Given the description of an element on the screen output the (x, y) to click on. 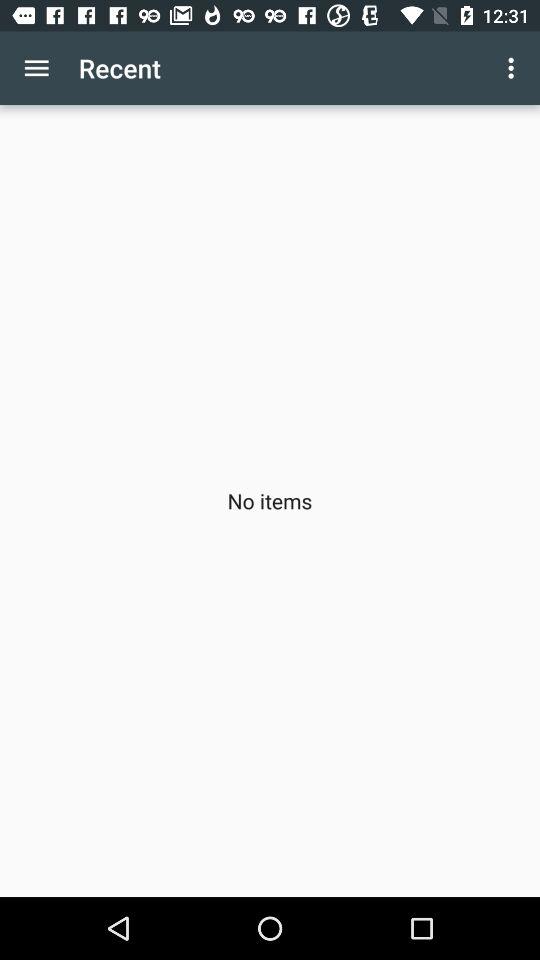
tap icon at the top right corner (513, 67)
